Given the description of an element on the screen output the (x, y) to click on. 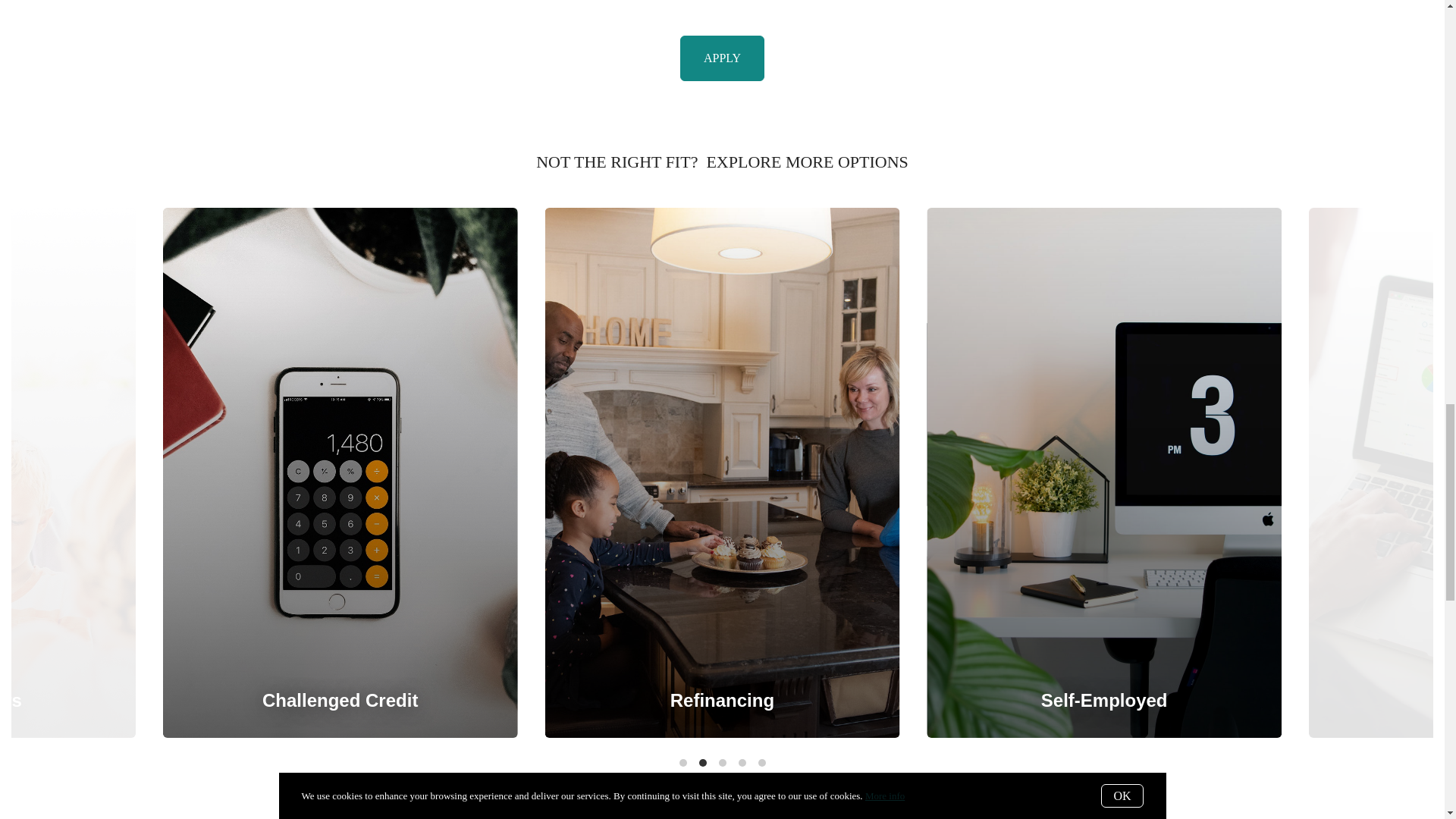
APPLY (721, 58)
